Given the description of an element on the screen output the (x, y) to click on. 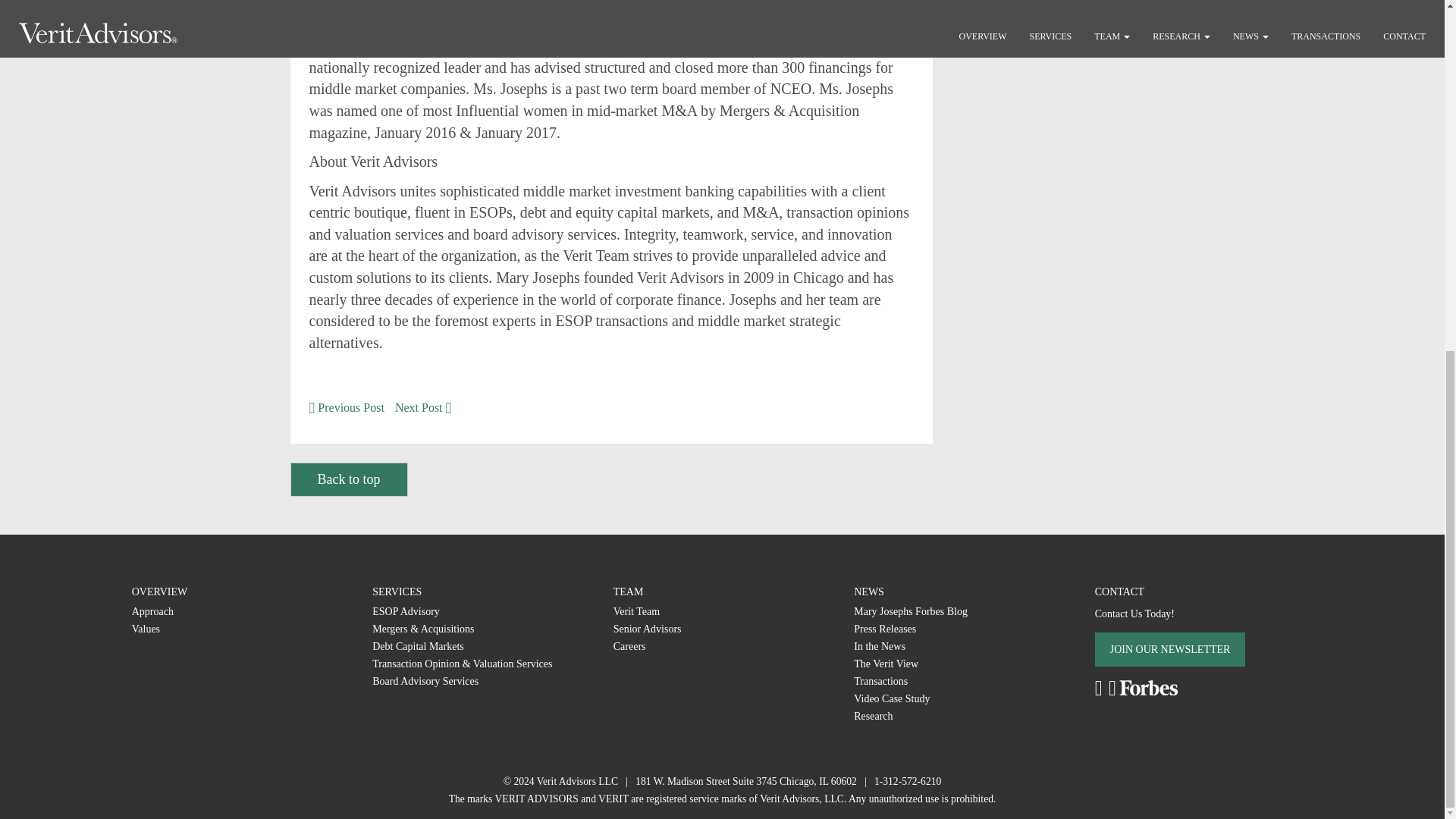
Values (146, 628)
In the News (879, 645)
ESOP Advisory (405, 611)
Senior Advisors (646, 628)
National Van Lines, Inc. (891, 698)
Board Advisory Services (425, 681)
Careers (629, 645)
Press Releases (884, 628)
Mary Josephs Forbes Blog (910, 611)
Approach (152, 611)
Video Case Study (891, 698)
Previous Post (346, 407)
Back to top (348, 479)
The Verit View (885, 663)
Verit Team (635, 611)
